Given the description of an element on the screen output the (x, y) to click on. 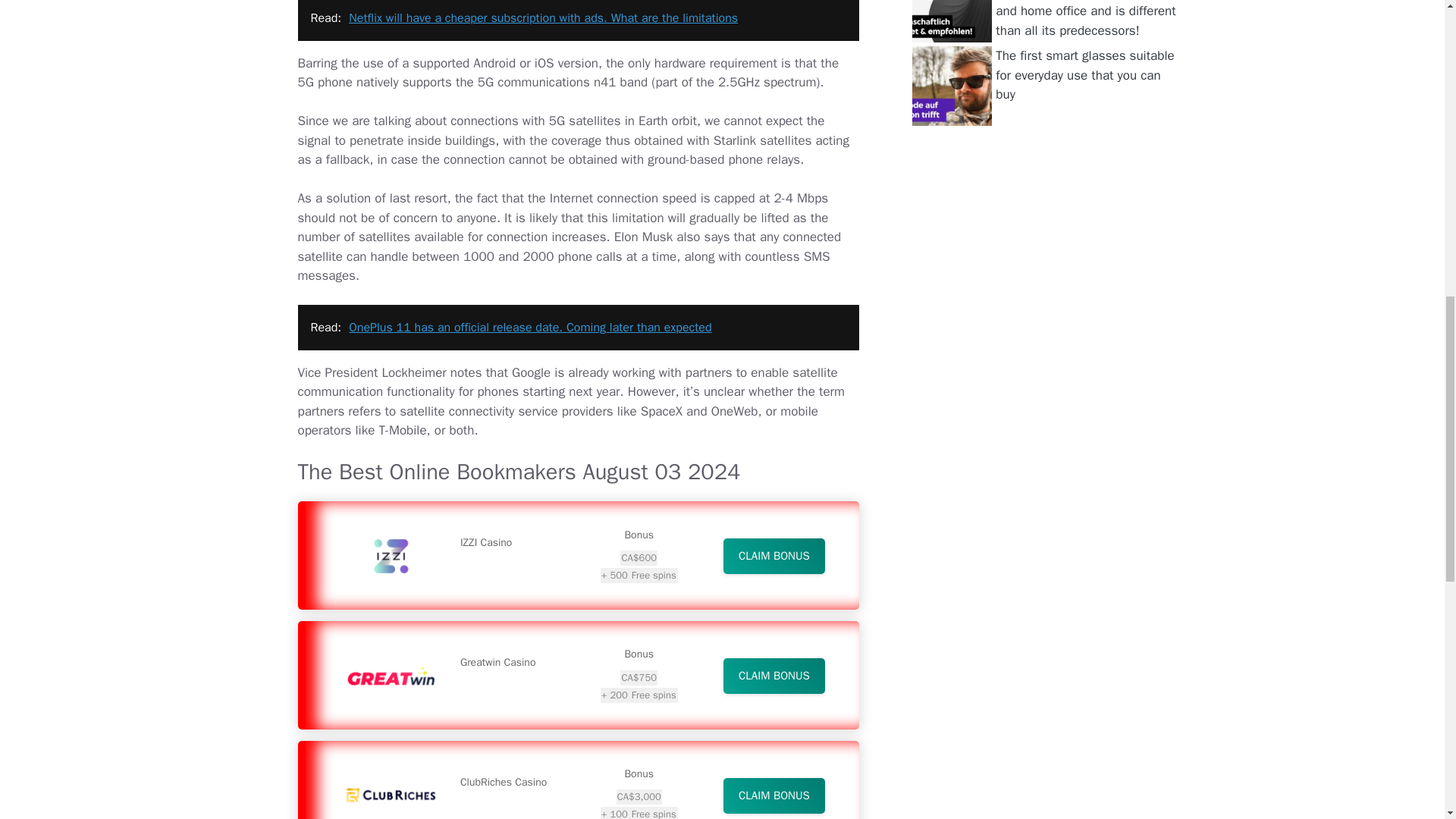
Scroll back to top (1406, 720)
